Given the description of an element on the screen output the (x, y) to click on. 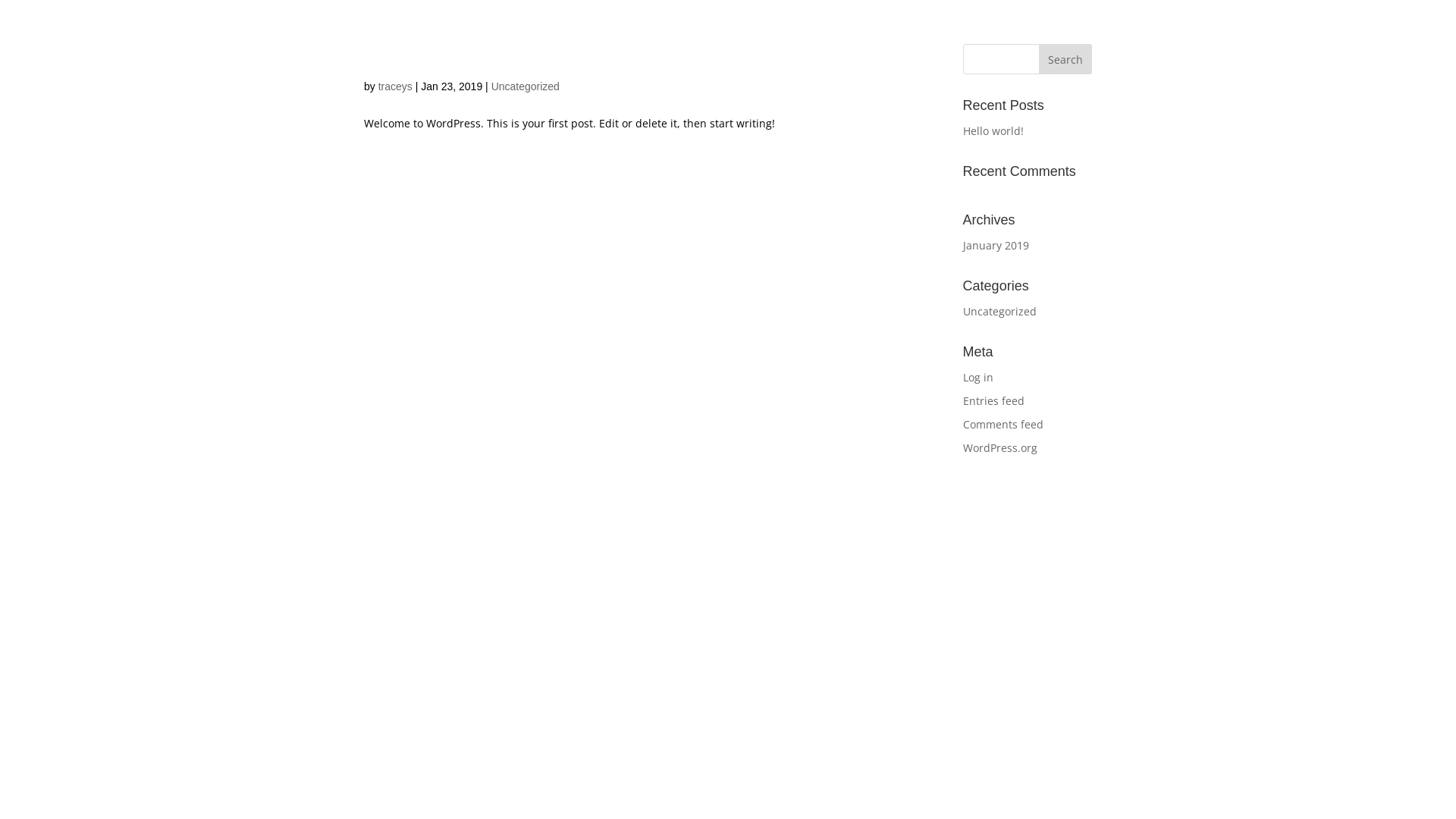
WordPress.org Element type: text (1000, 447)
Entries feed Element type: text (993, 400)
January 2019 Element type: text (996, 245)
traceys Element type: text (395, 86)
Uncategorized Element type: text (999, 311)
Search Element type: text (1065, 58)
Uncategorized Element type: text (525, 86)
Hello world! Element type: text (993, 130)
Comments feed Element type: text (1003, 424)
Hello world! Element type: text (411, 55)
Log in Element type: text (978, 377)
